Given the description of an element on the screen output the (x, y) to click on. 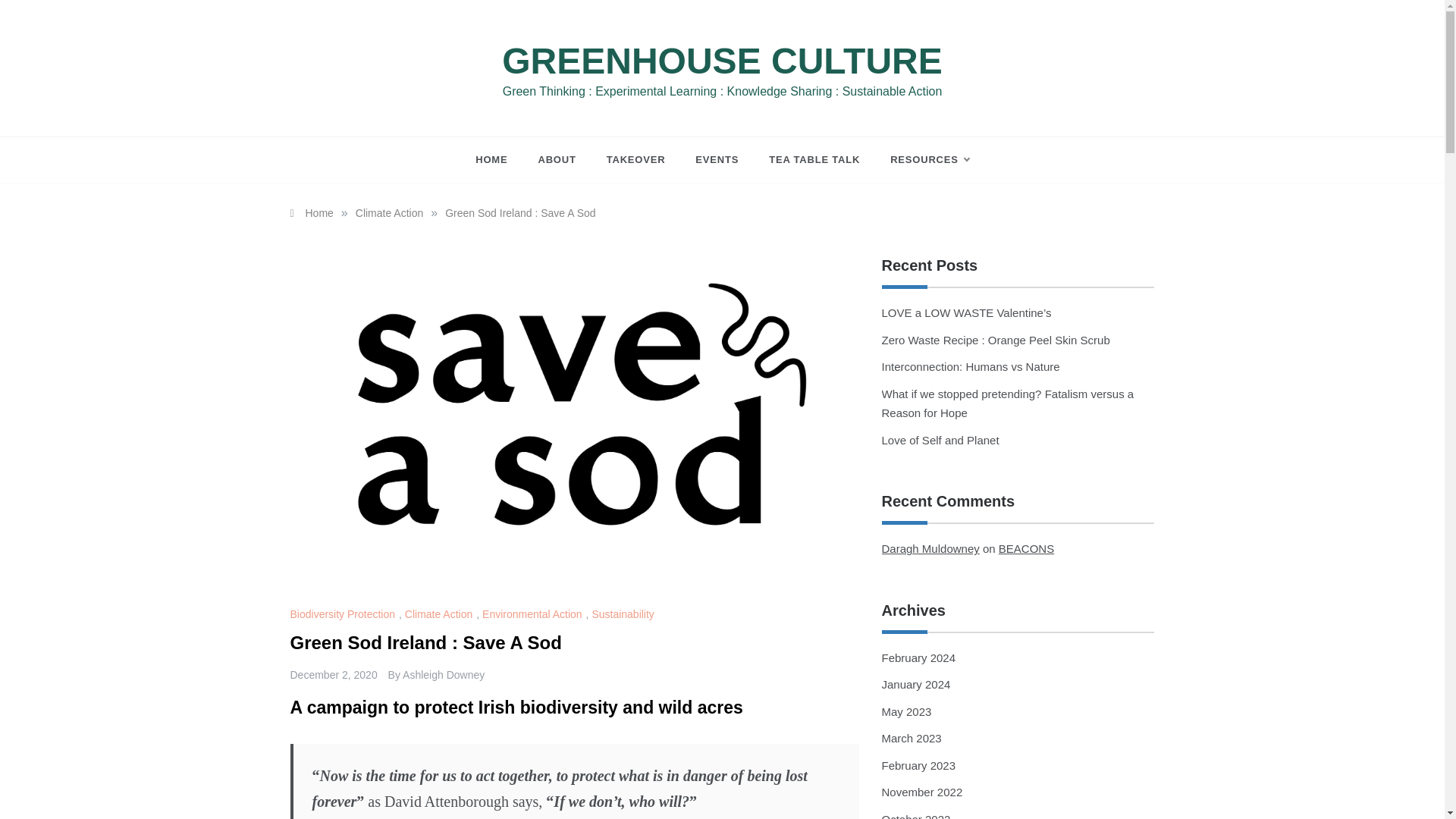
HOME (499, 159)
TEA TABLE TALK (814, 159)
Biodiversity Protection (343, 613)
Ashleigh Downey (443, 674)
Zero Waste Recipe : Orange Peel Skin Scrub (994, 339)
Green Sod Ireland : Save A Sod (520, 213)
December 2, 2020 (333, 674)
EVENTS (716, 159)
Climate Action (440, 613)
TAKEOVER (636, 159)
Environmental Action (533, 613)
Sustainability (624, 613)
Home (311, 213)
Climate Action (389, 213)
RESOURCES (922, 159)
